Given the description of an element on the screen output the (x, y) to click on. 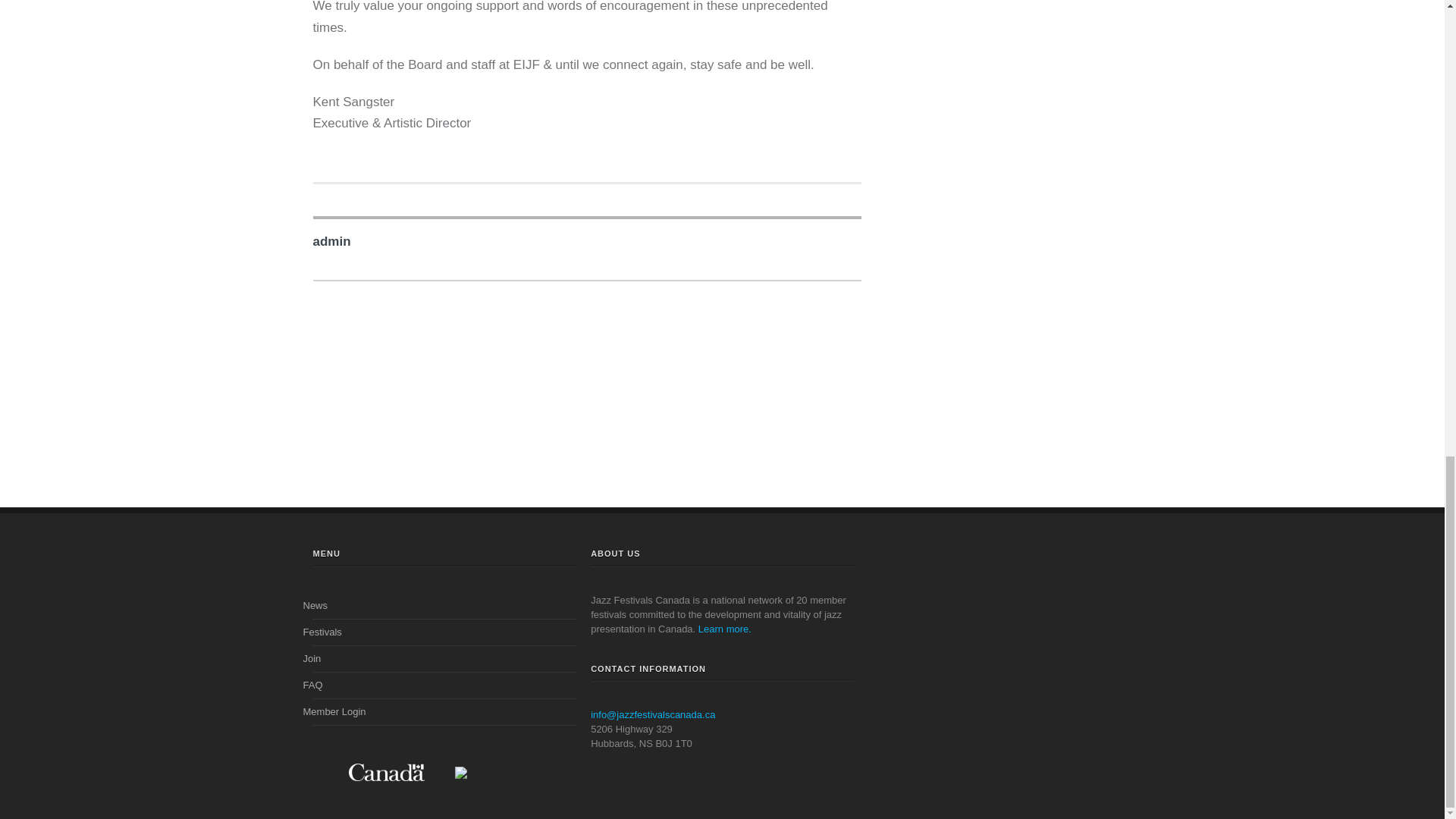
Member Login (335, 711)
Join (313, 658)
News (316, 605)
Festivals (324, 631)
FAQ (314, 684)
